Given the description of an element on the screen output the (x, y) to click on. 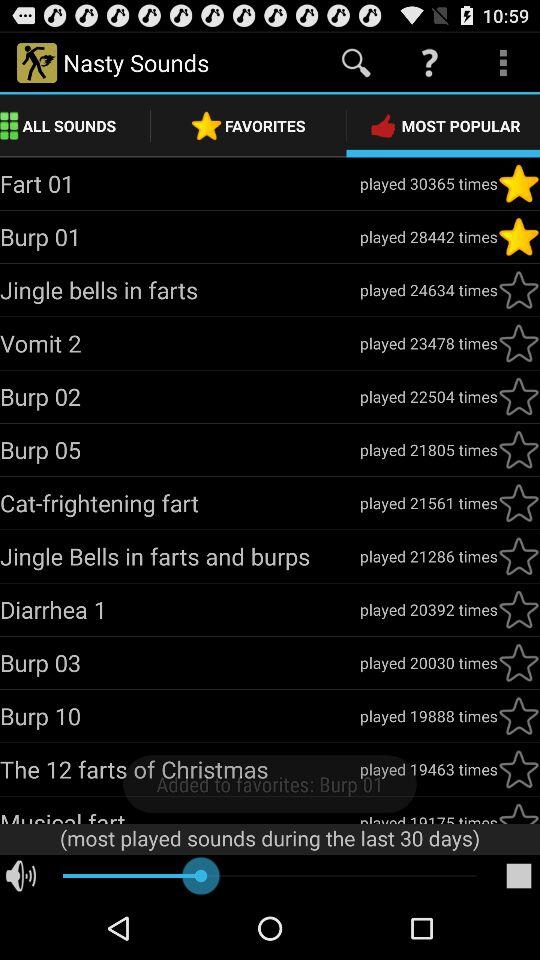
save as favorite (519, 556)
